Given the description of an element on the screen output the (x, y) to click on. 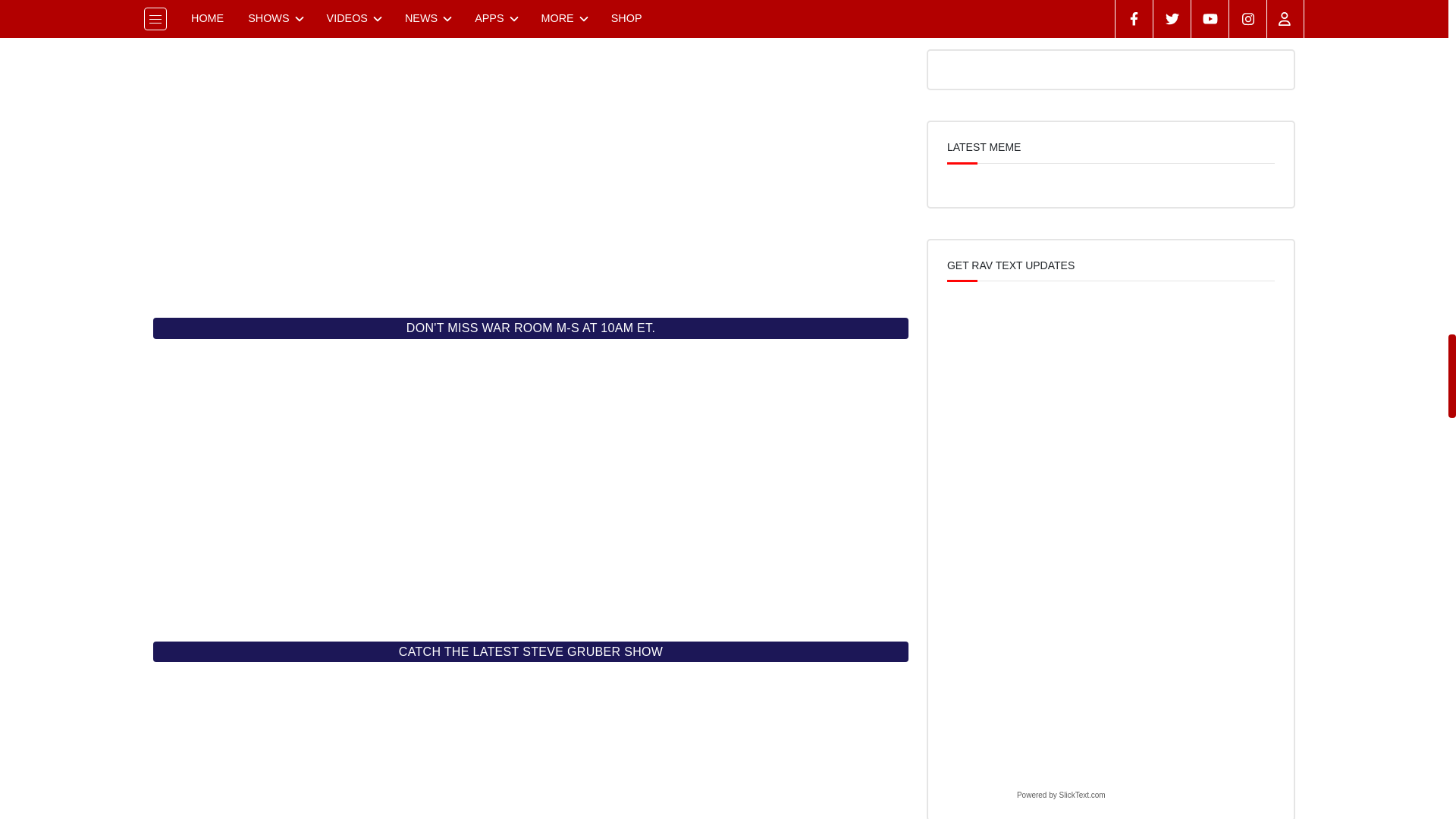
Widget iframe (530, 746)
